Given the description of an element on the screen output the (x, y) to click on. 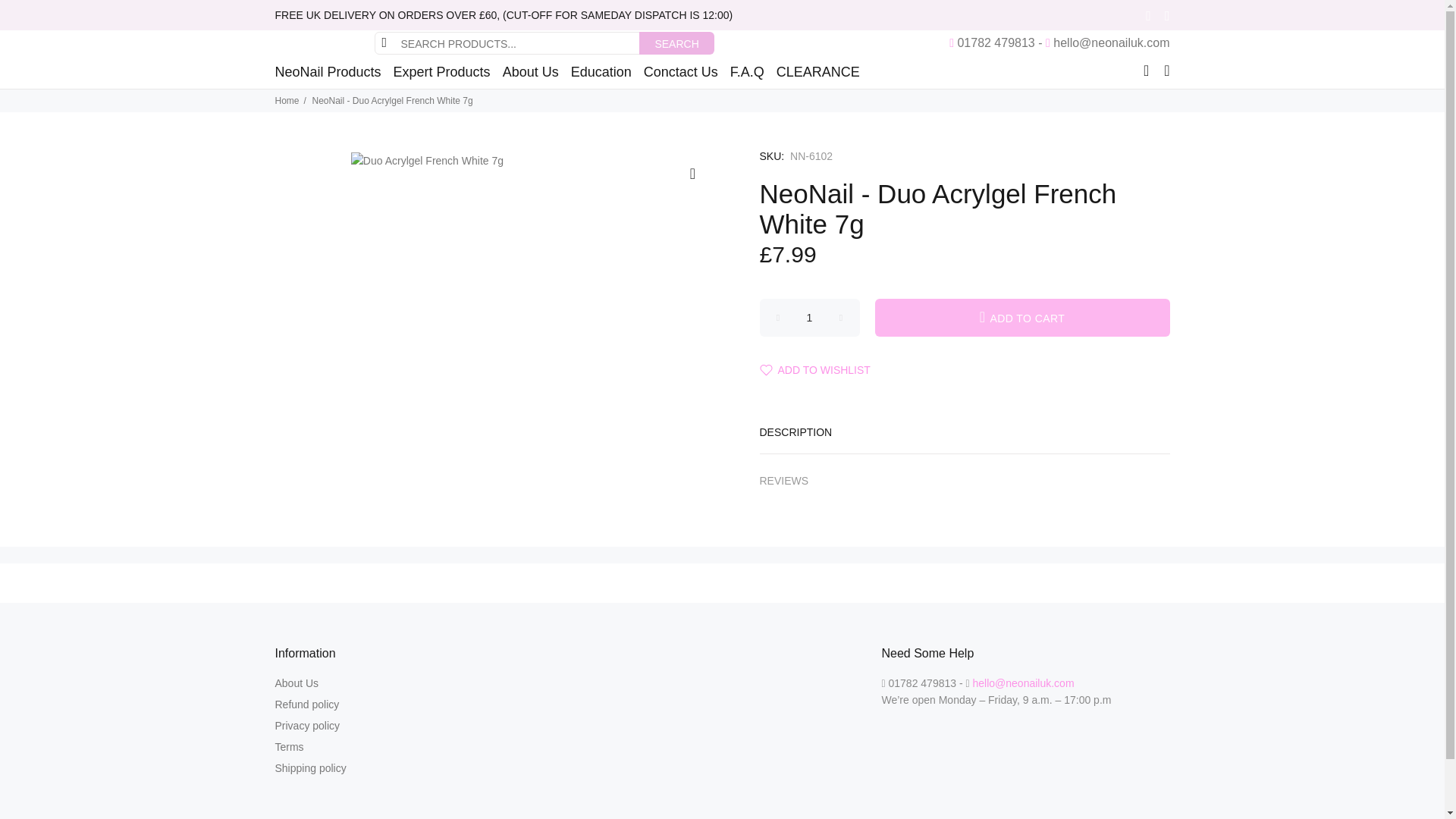
Education (600, 71)
SEARCH (676, 42)
Home (286, 100)
F.A.Q (746, 71)
About Us (530, 71)
CLEARANCE (815, 71)
1 (810, 317)
Conctact Us (680, 71)
Expert Products (441, 71)
NeoNail Products (331, 71)
